Given the description of an element on the screen output the (x, y) to click on. 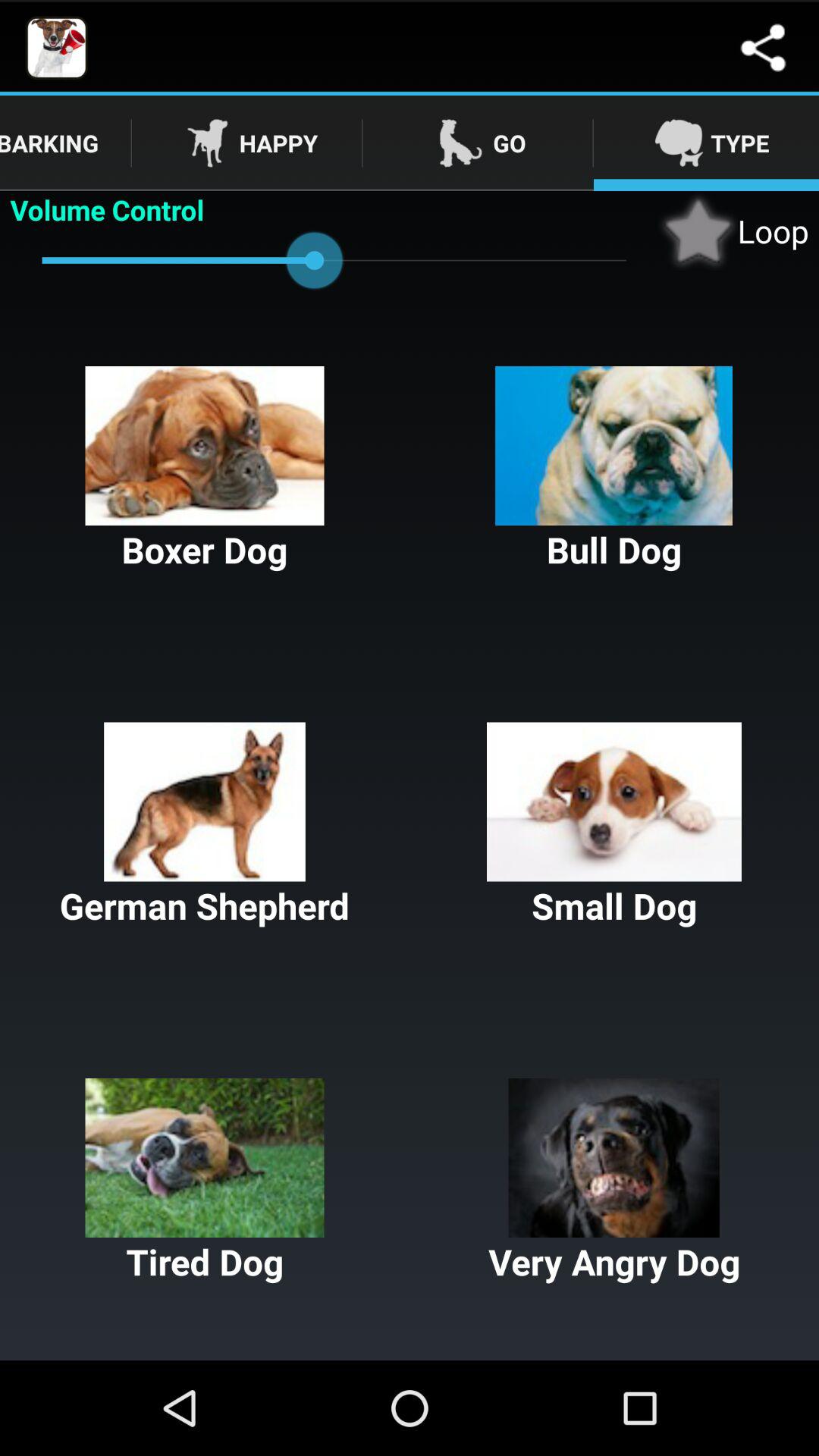
choose german shepherd item (204, 825)
